Given the description of an element on the screen output the (x, y) to click on. 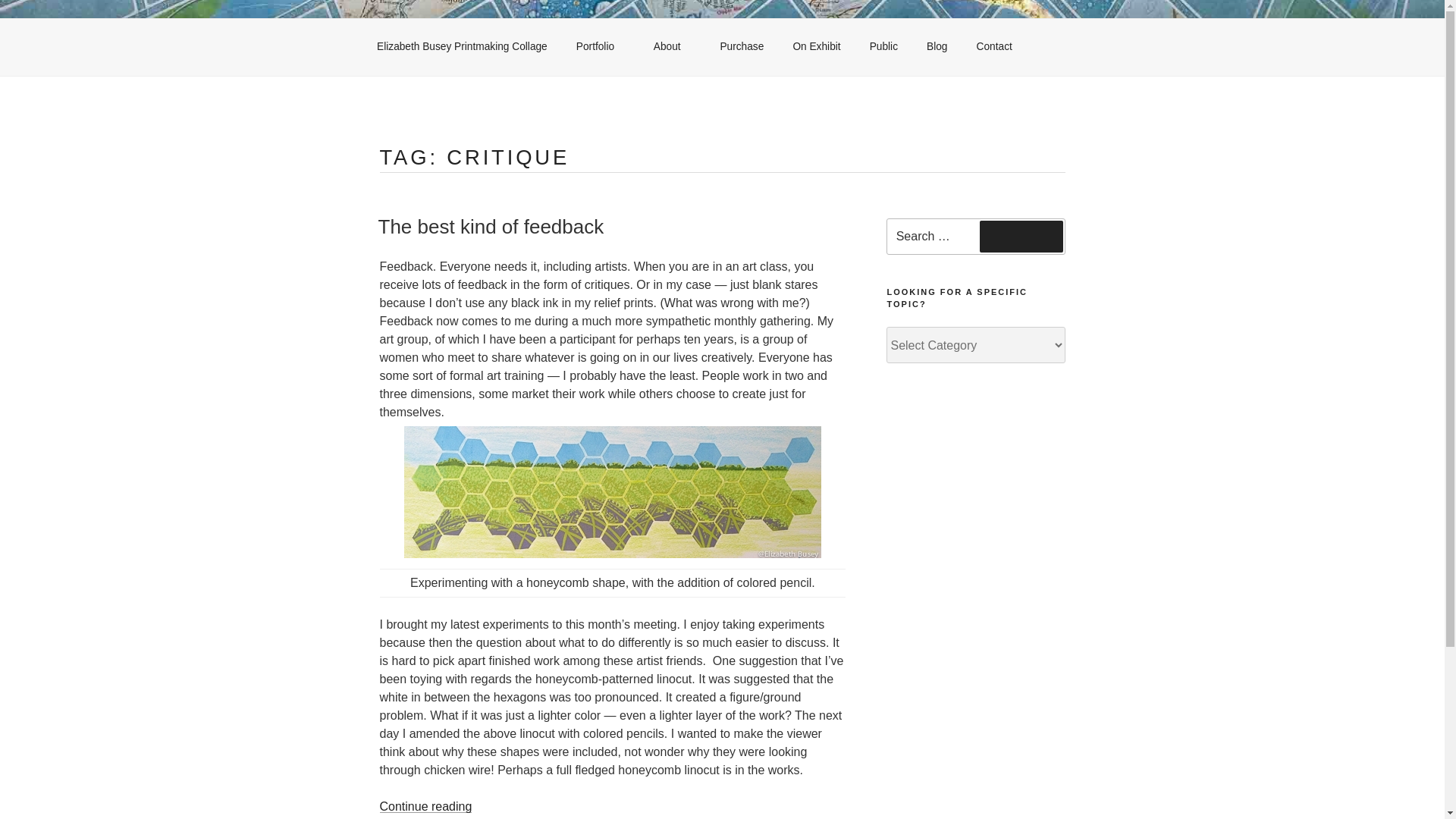
Public (884, 46)
Purchase (741, 46)
ELIZABETH BUSEY (519, 29)
Search (1020, 236)
Portfolio (600, 46)
Elizabeth Busey Printmaking Collage (462, 46)
The best kind of feedback (490, 226)
About (672, 46)
Blog (937, 46)
On Exhibit (815, 46)
